Given the description of an element on the screen output the (x, y) to click on. 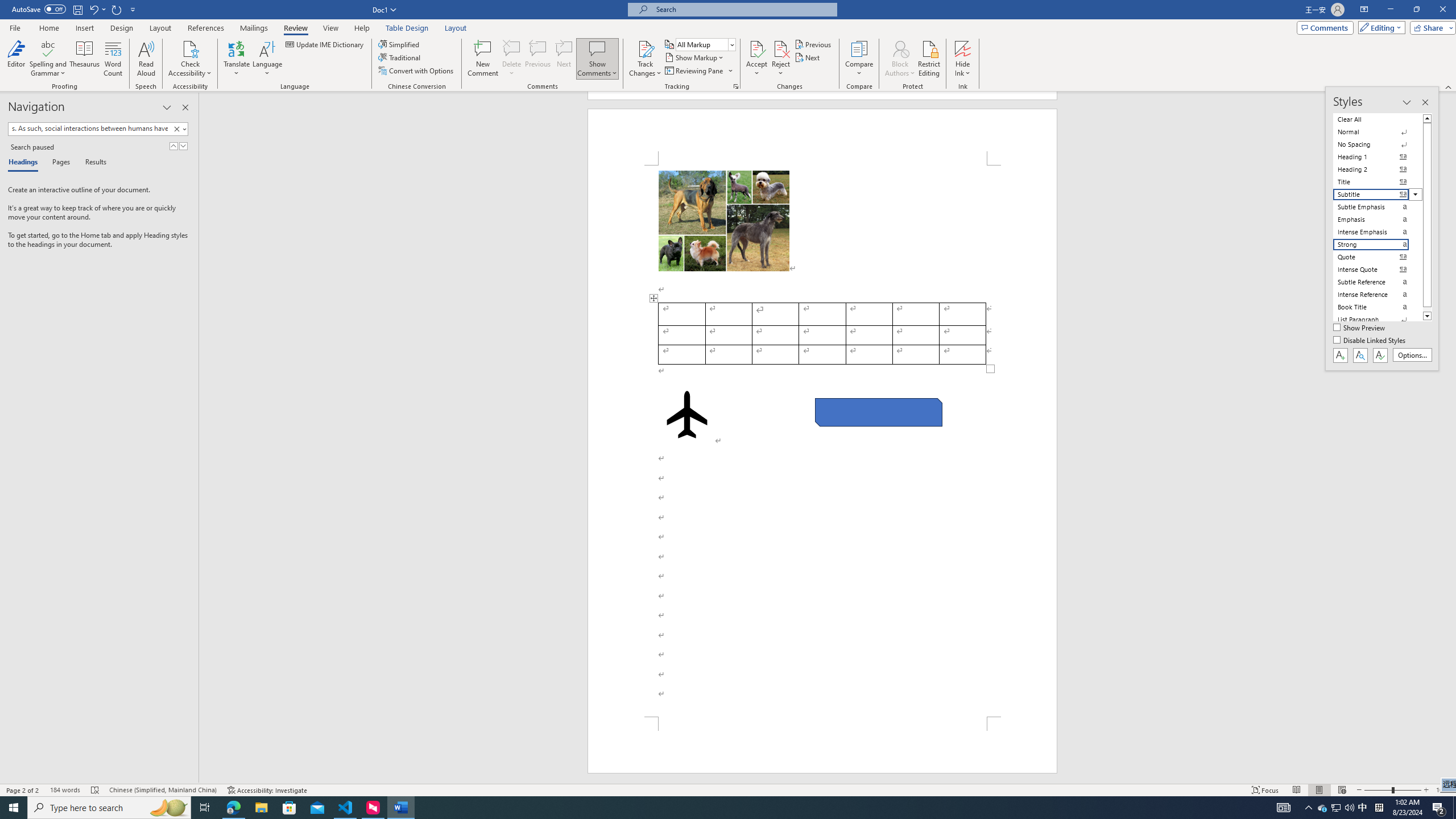
Simplified (400, 44)
Subtle Emphasis (1377, 206)
Spelling and Grammar (48, 48)
New Comment (482, 58)
Check Accessibility (189, 58)
Options... (1412, 354)
Zoom 104% (1443, 790)
